Given the description of an element on the screen output the (x, y) to click on. 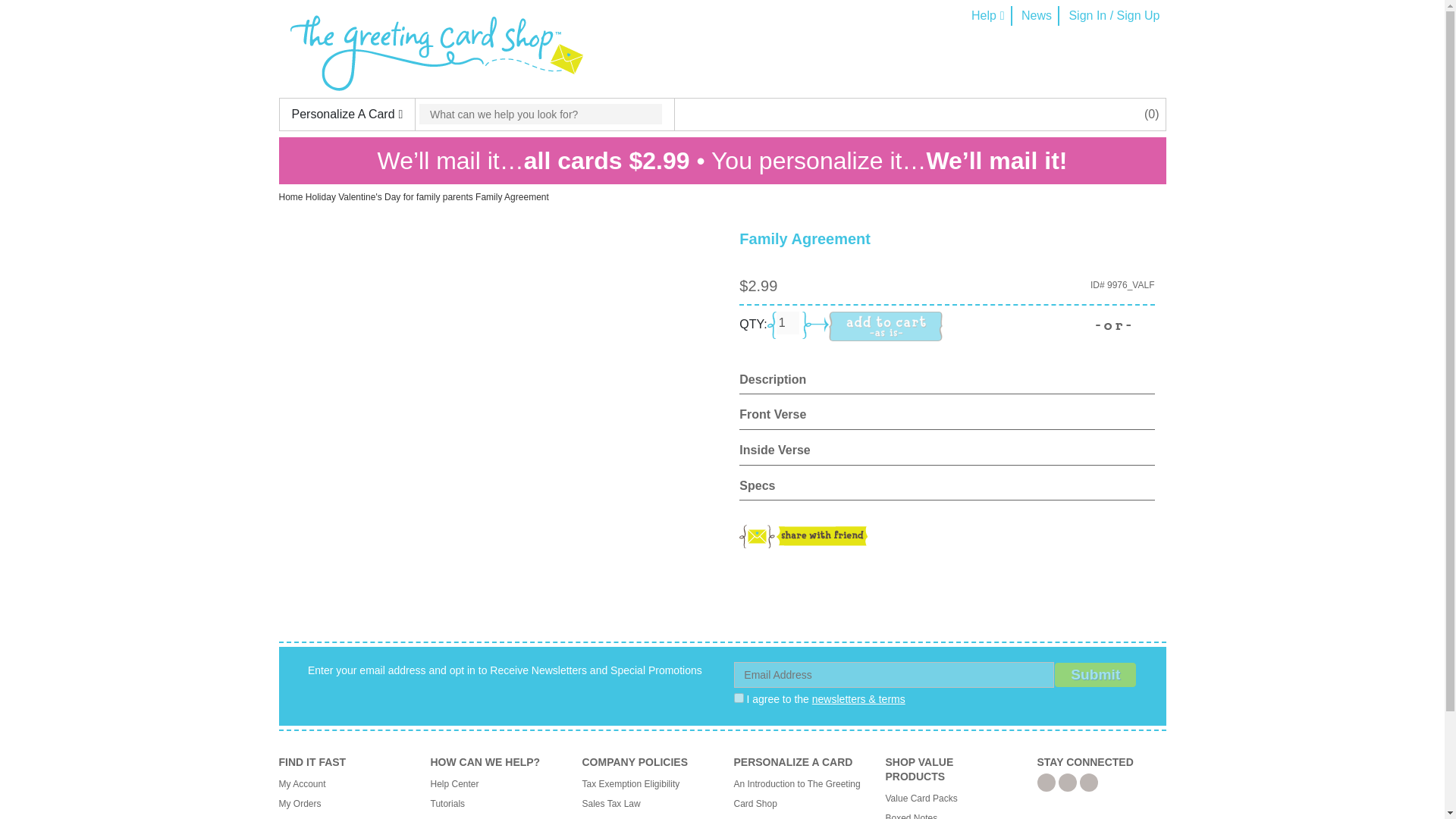
Submit (1095, 674)
News (1036, 15)
Cart (1151, 113)
1 (738, 697)
Help (987, 15)
Personalize A Card (346, 114)
Search (540, 114)
1 (787, 323)
